Given the description of an element on the screen output the (x, y) to click on. 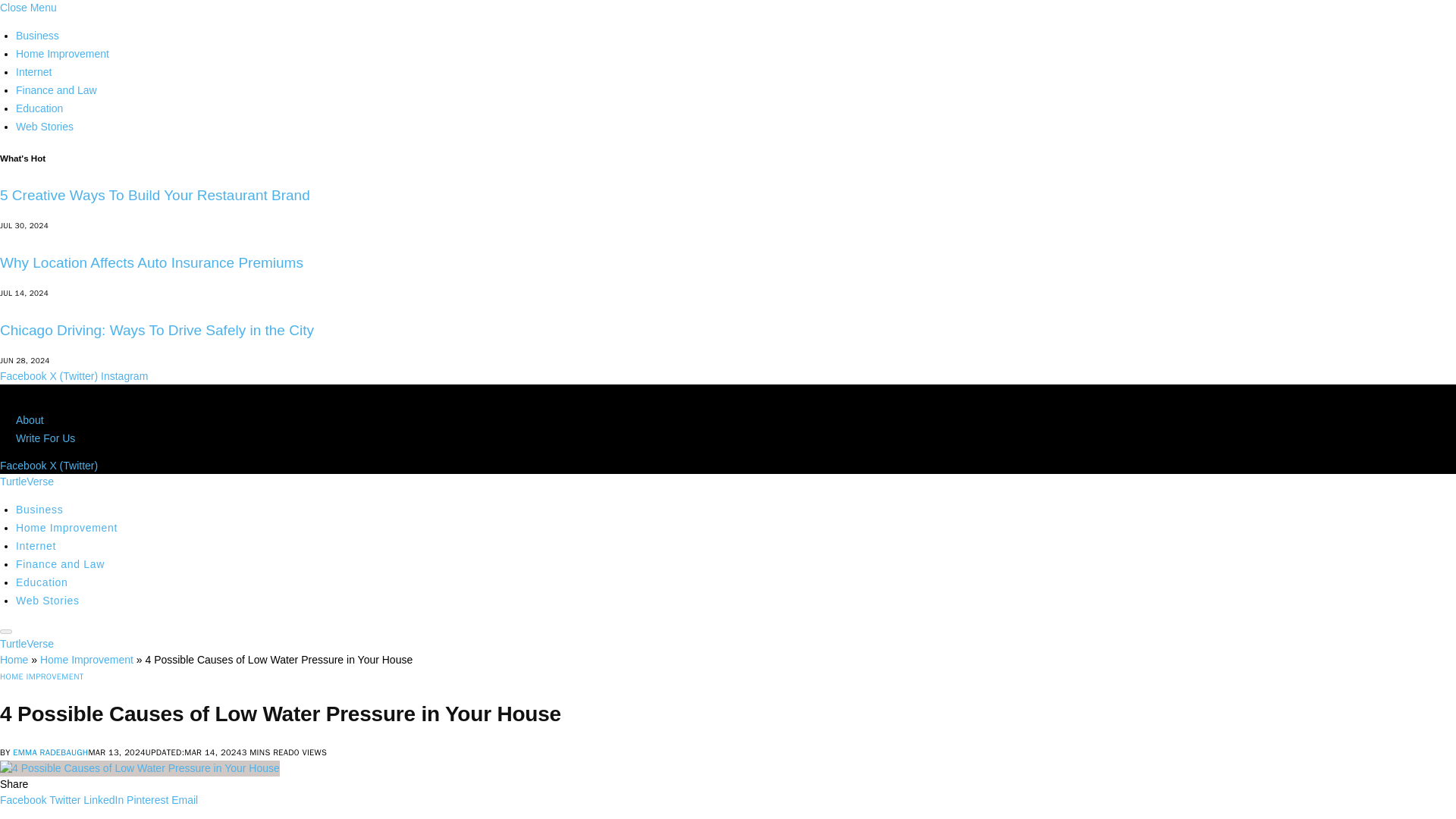
Home Improvement (66, 527)
TurtleVerse (26, 481)
Write For Us (45, 438)
Education (39, 108)
Web Stories (48, 600)
HOME IMPROVEMENT (42, 675)
About (29, 419)
Home (13, 659)
Facebook (24, 376)
Finance and Law (60, 563)
4 possible causes of low water pressure in your house (139, 768)
Home Improvement (86, 659)
Twitter (64, 799)
LinkedIn (102, 799)
Internet (33, 71)
